Given the description of an element on the screen output the (x, y) to click on. 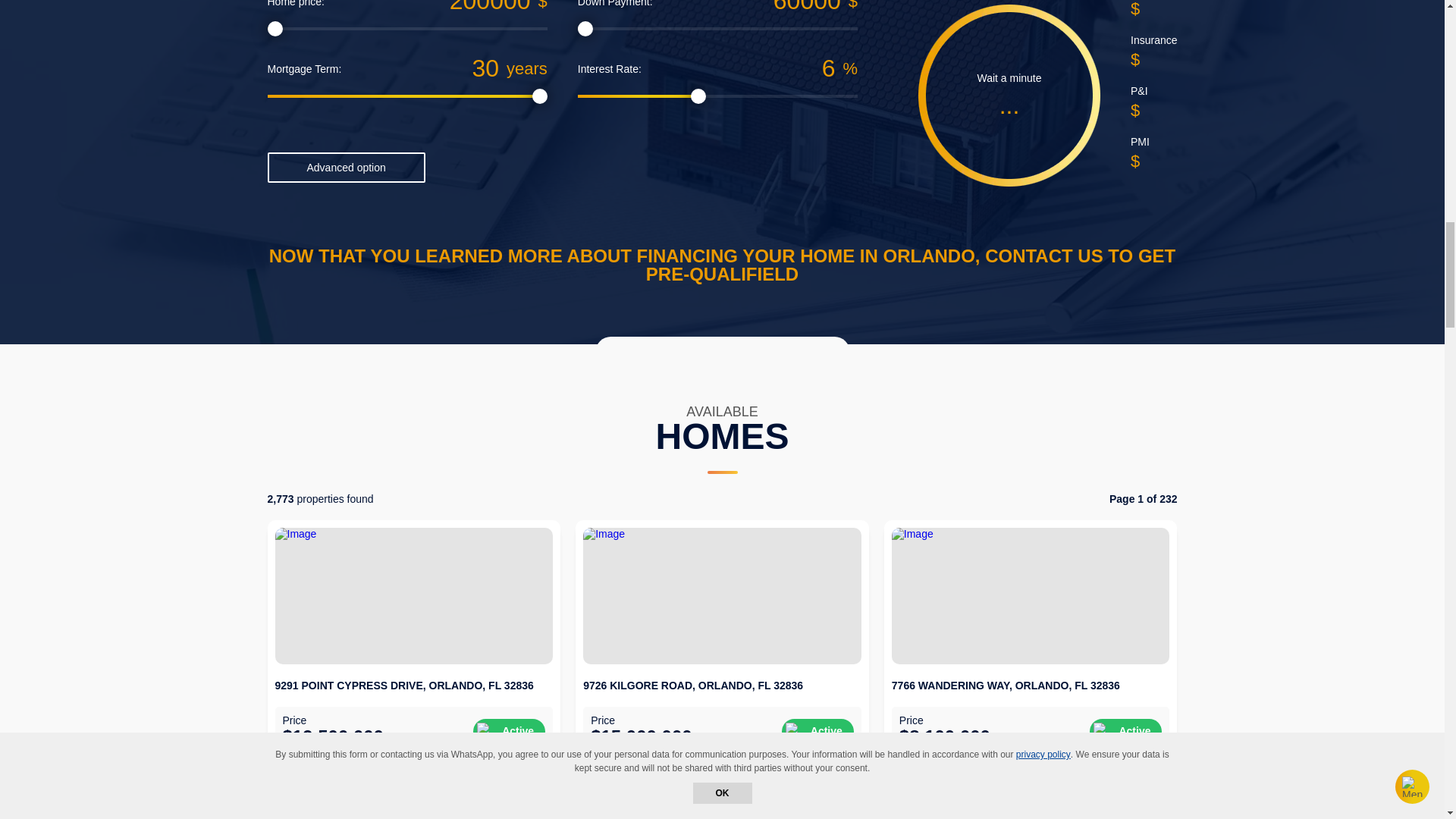
200000 (427, 7)
60000 (746, 7)
6 (738, 68)
30 (419, 68)
